Given the description of an element on the screen output the (x, y) to click on. 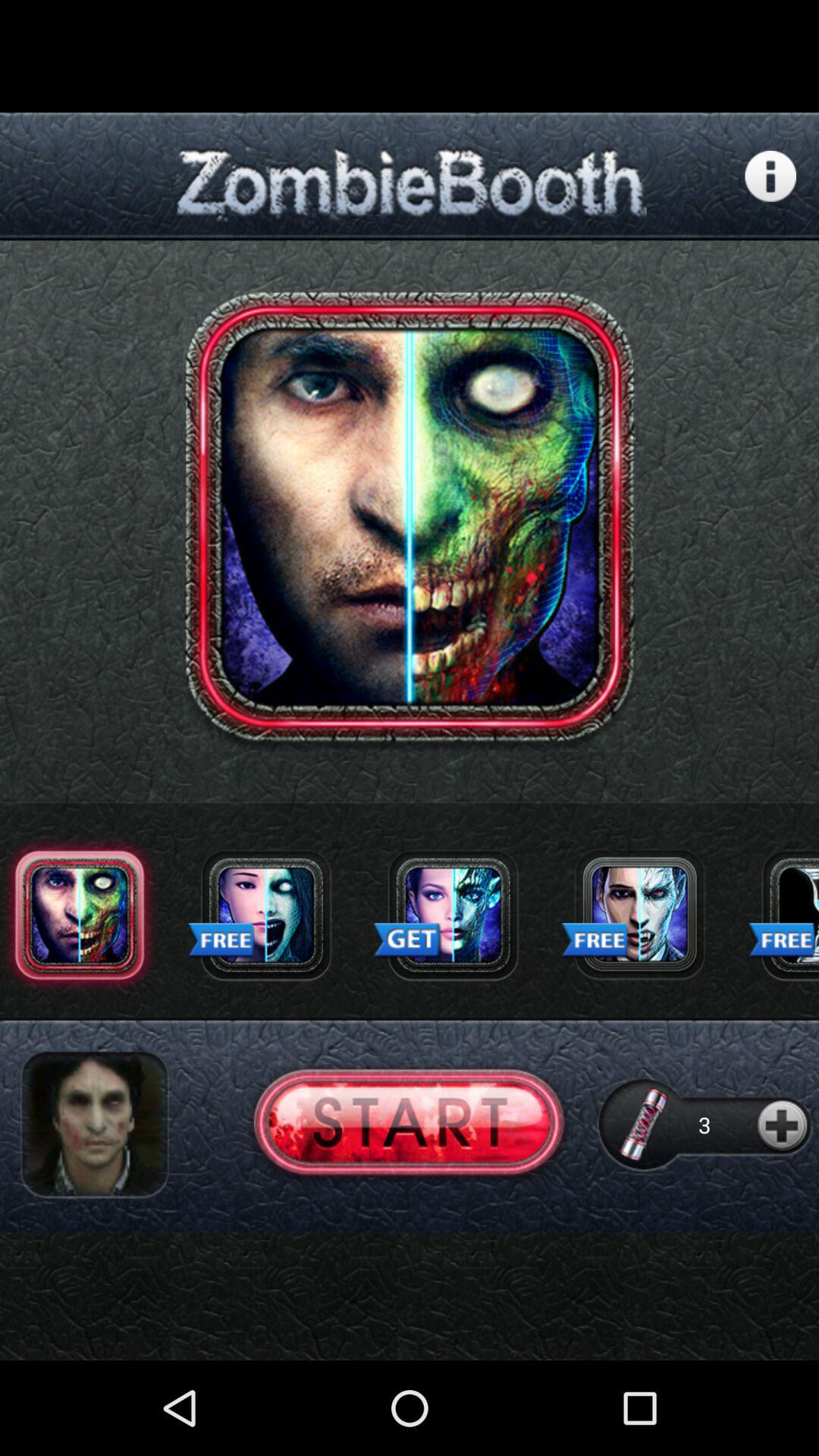
choose player (94, 1124)
